Given the description of an element on the screen output the (x, y) to click on. 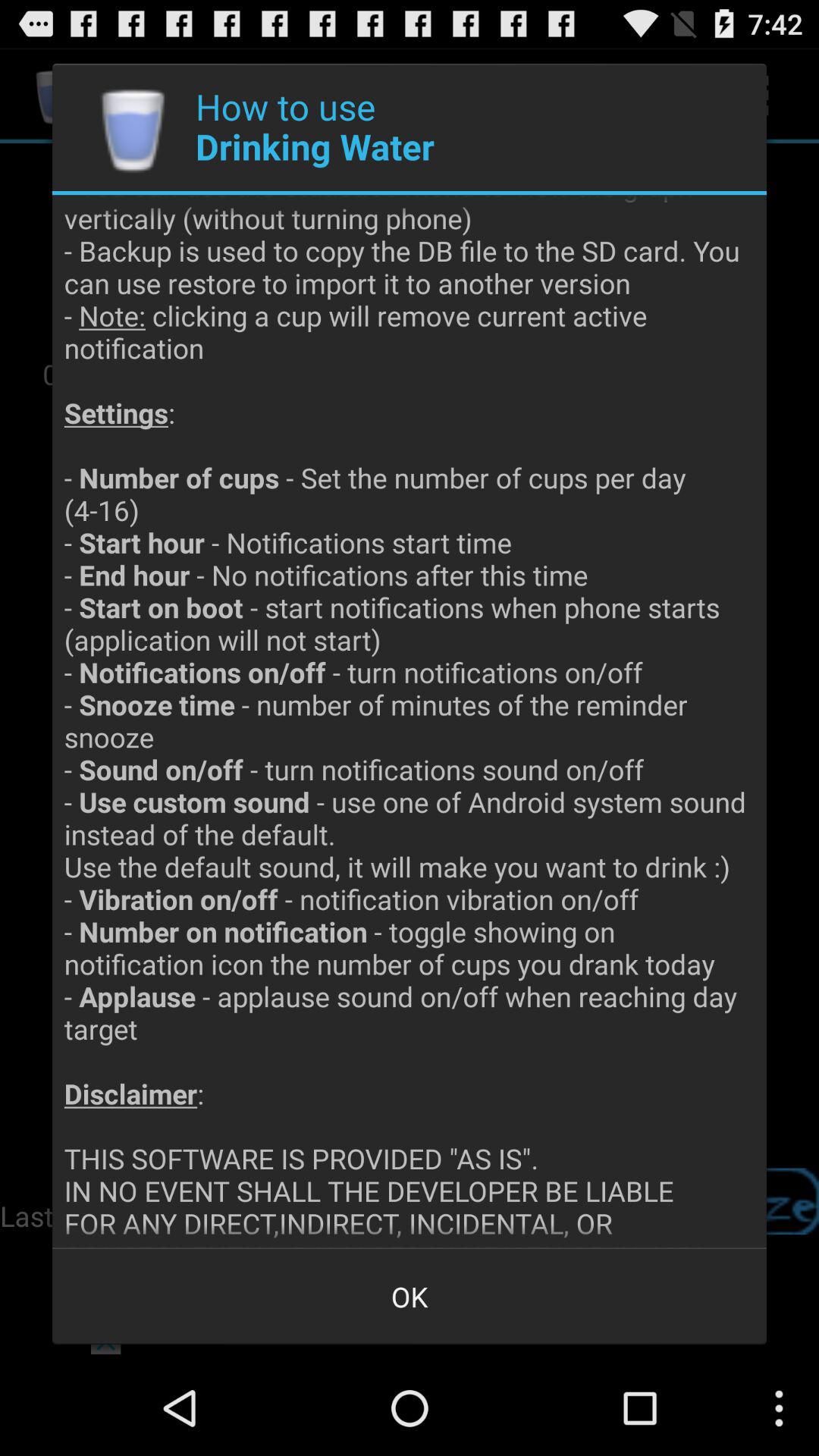
press button at the bottom (409, 1296)
